Given the description of an element on the screen output the (x, y) to click on. 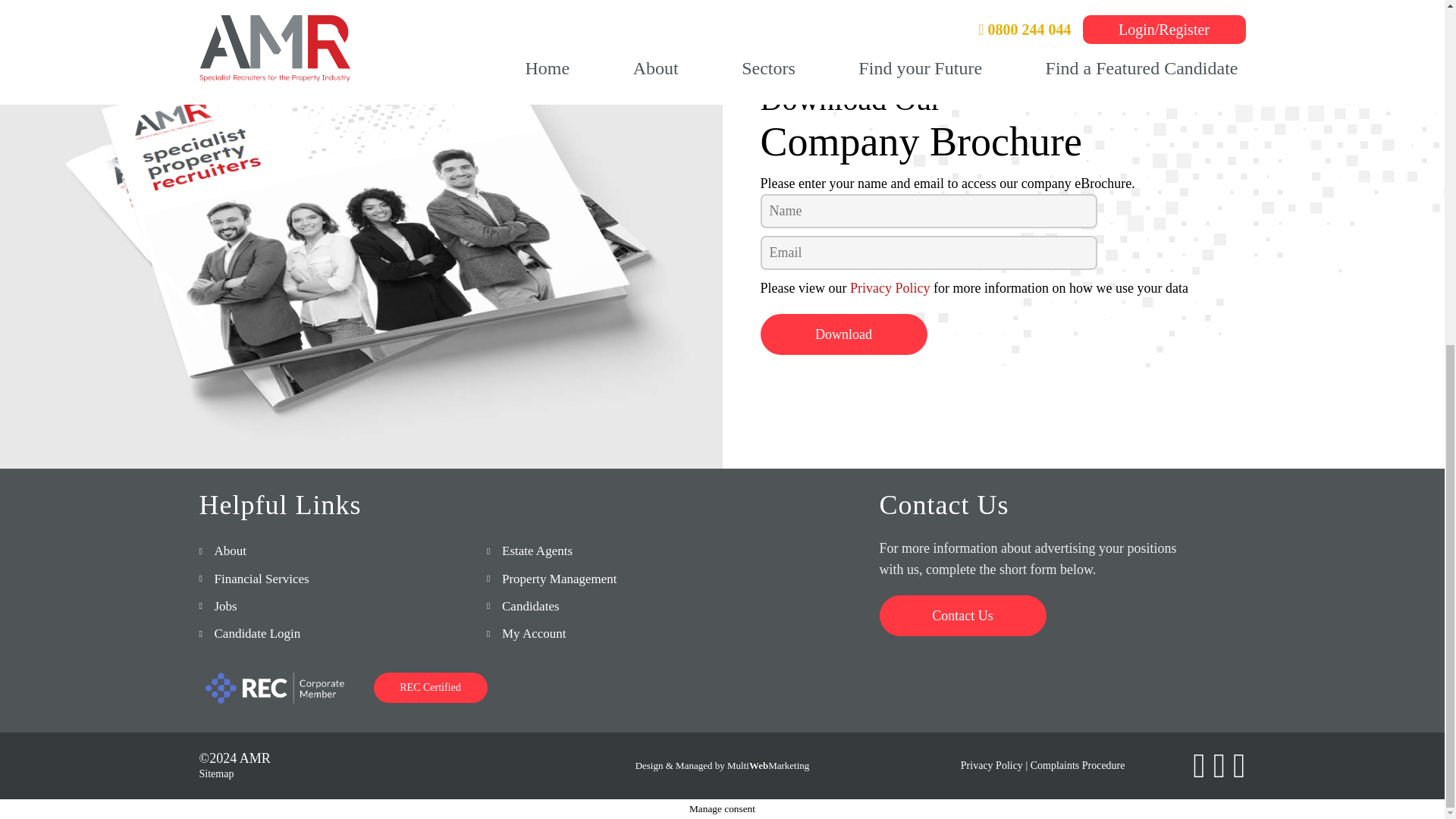
About (230, 550)
Candidate Login (256, 633)
Financial Services (261, 578)
Privacy Policy (890, 287)
My Account (534, 633)
Estate Agents (537, 550)
Download (843, 333)
Property Management (559, 578)
Download (843, 333)
REC Certified (429, 687)
Contact Us (962, 615)
Jobs (224, 605)
Candidates (530, 605)
